Given the description of an element on the screen output the (x, y) to click on. 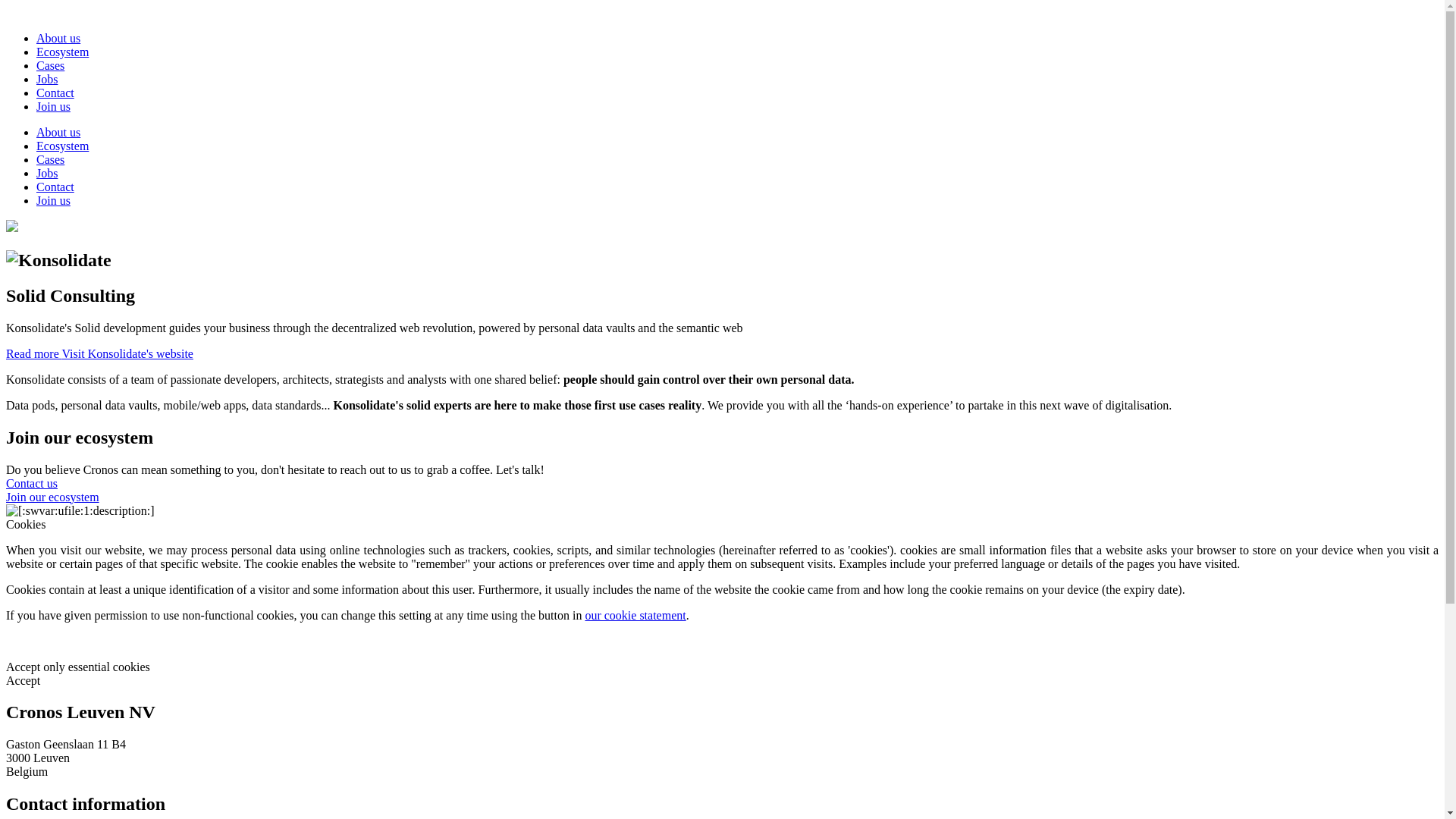
About us Element type: text (58, 37)
Jobs Element type: text (46, 172)
Cases Element type: text (50, 65)
Contact Element type: text (55, 92)
Join us Element type: text (53, 200)
Contact Element type: text (55, 186)
Read more Element type: text (33, 353)
Ecosystem Element type: text (62, 145)
About us Element type: text (58, 131)
our cookie statement Element type: text (634, 614)
Contact us Element type: text (31, 482)
Cases Element type: text (50, 159)
Join our ecosystem Element type: text (52, 496)
Join us Element type: text (53, 106)
Ecosystem Element type: text (62, 51)
Jobs Element type: text (46, 78)
Visit Konsolidate's website Element type: text (126, 353)
